Given the description of an element on the screen output the (x, y) to click on. 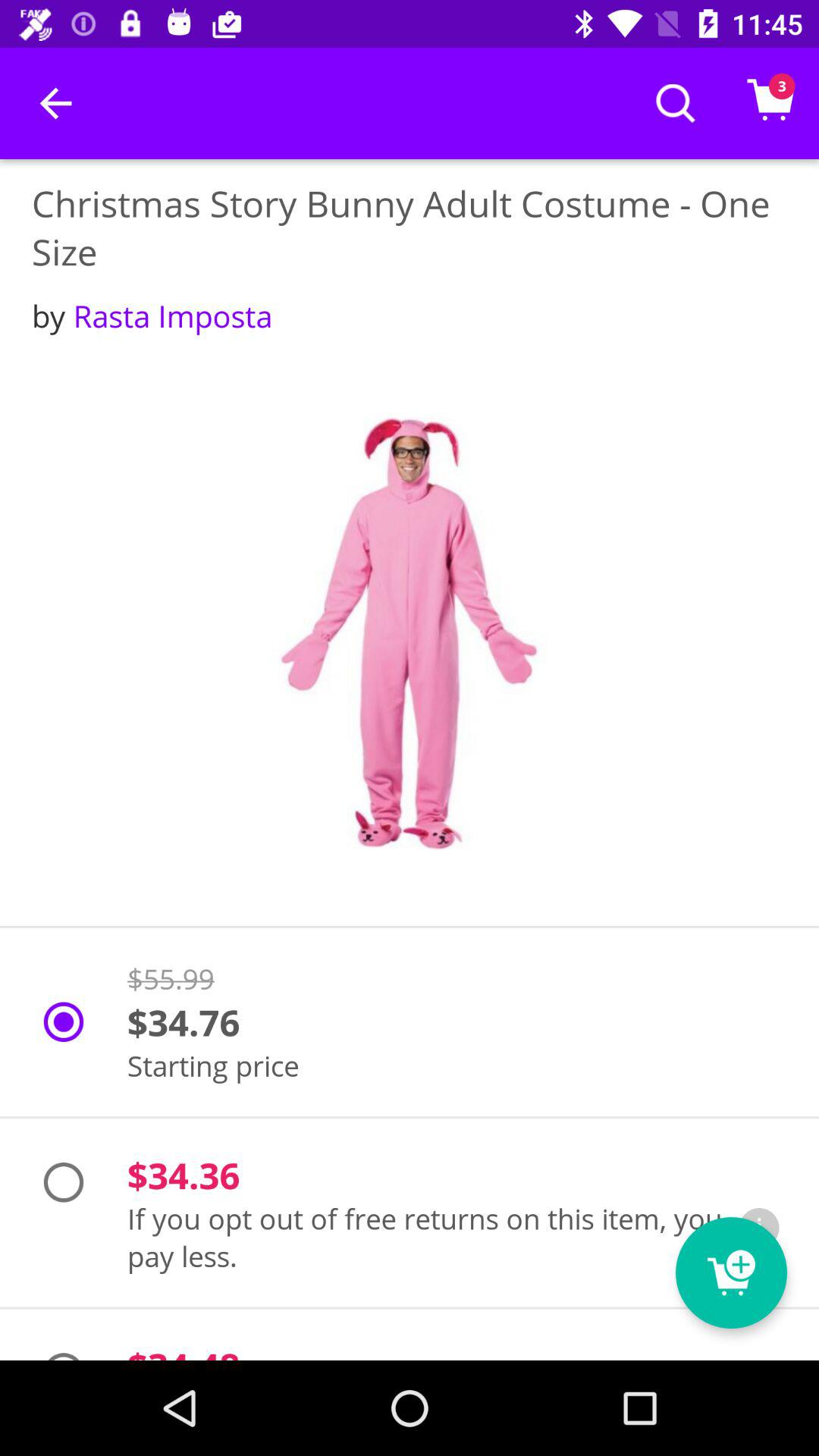
add product to cart (731, 1272)
